Given the description of an element on the screen output the (x, y) to click on. 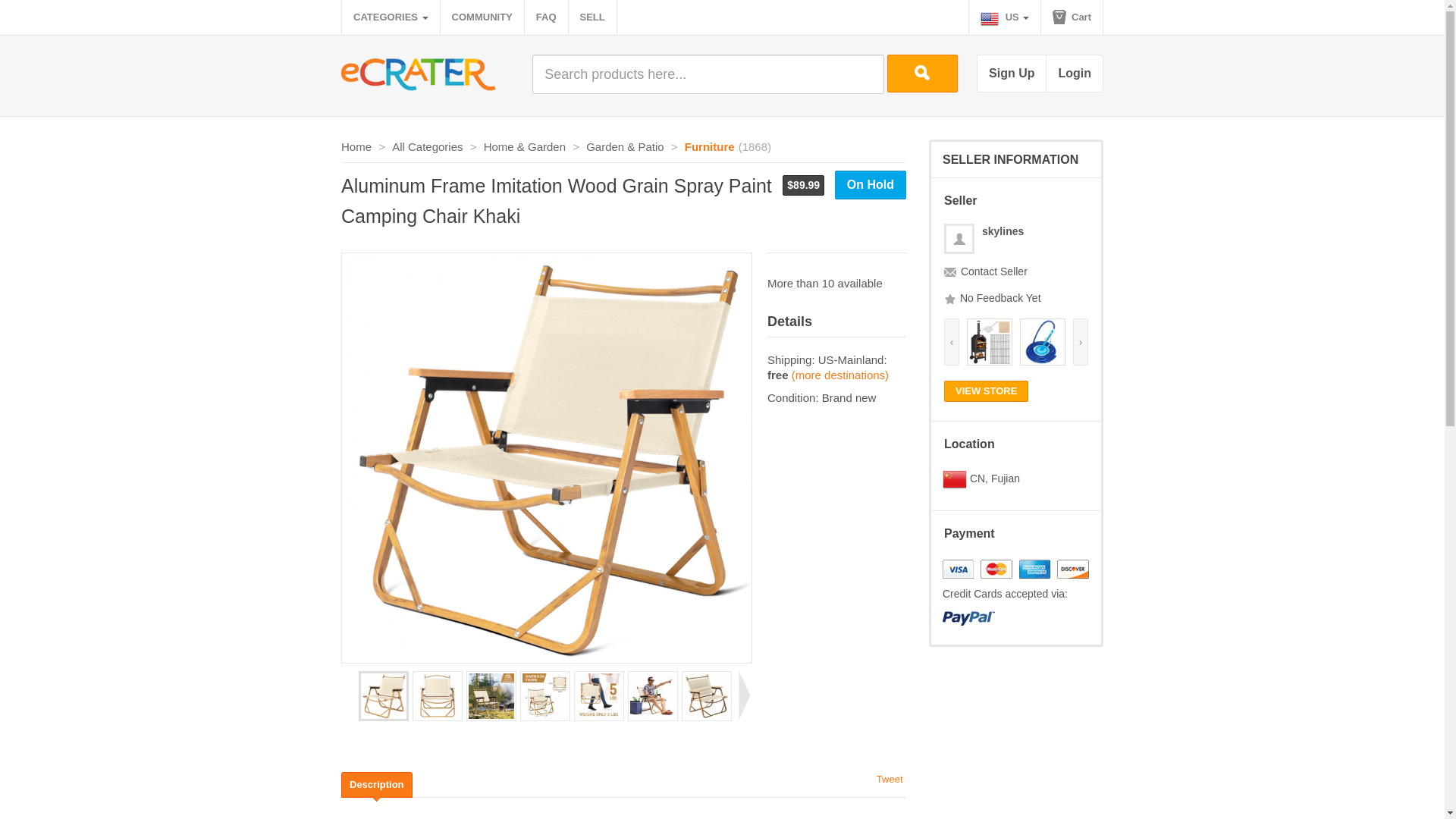
FAQ (545, 17)
CATEGORIES (390, 17)
COMMUNITY (482, 17)
SELL (592, 17)
US (1005, 17)
